Given the description of an element on the screen output the (x, y) to click on. 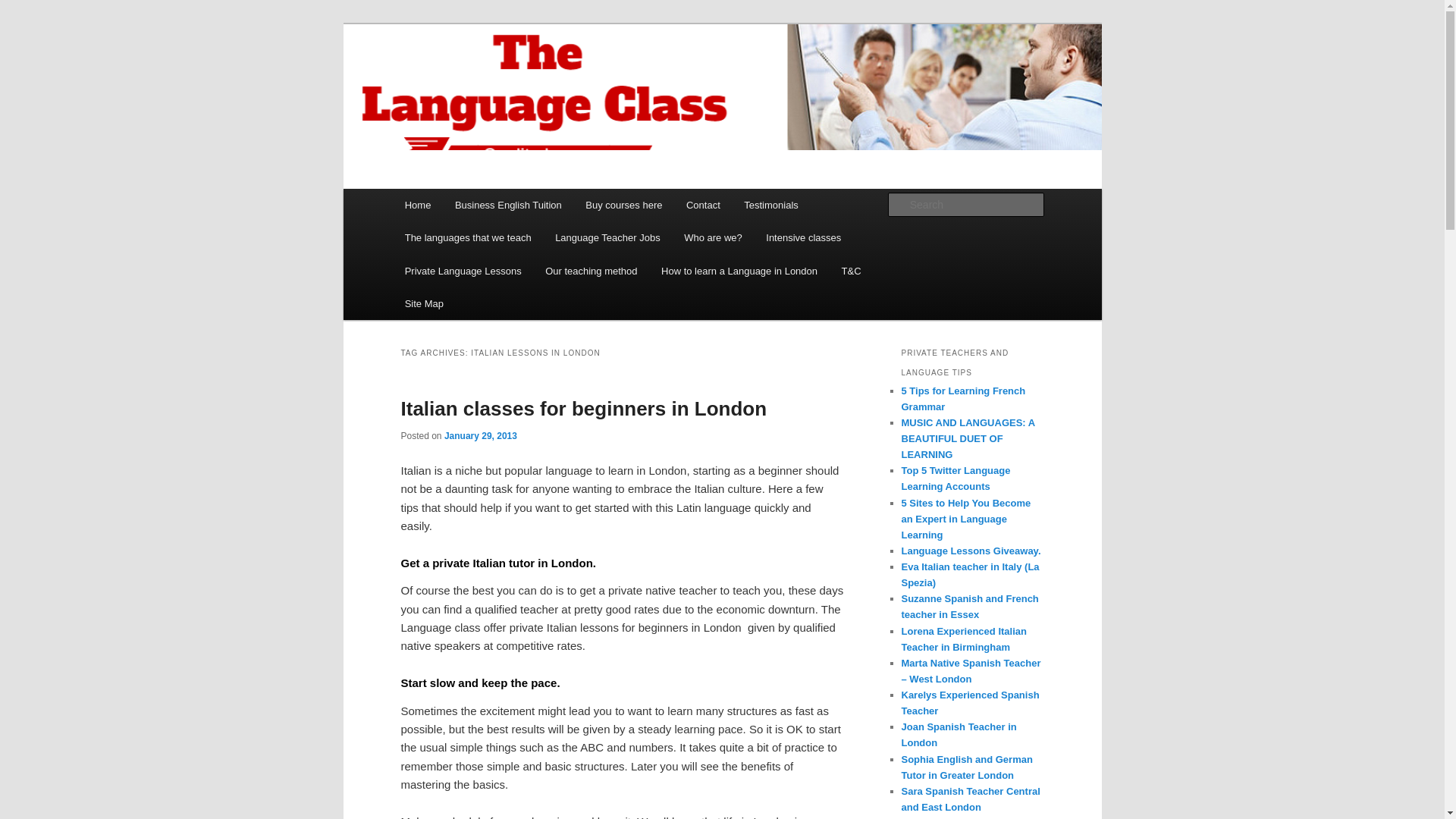
How to learn a Language in London (739, 270)
January 29, 2013 (480, 435)
Intensive classes (803, 237)
Our teaching method (590, 270)
Private Language Lessons (462, 270)
Buy courses here (624, 205)
Home (417, 205)
Business English Tuition (507, 205)
Search (24, 8)
The Language Class London (555, 78)
Italian classes for beginners in London (583, 408)
Testimonials (771, 205)
Language Teacher Jobs (607, 237)
9:02 pm (480, 435)
